Given the description of an element on the screen output the (x, y) to click on. 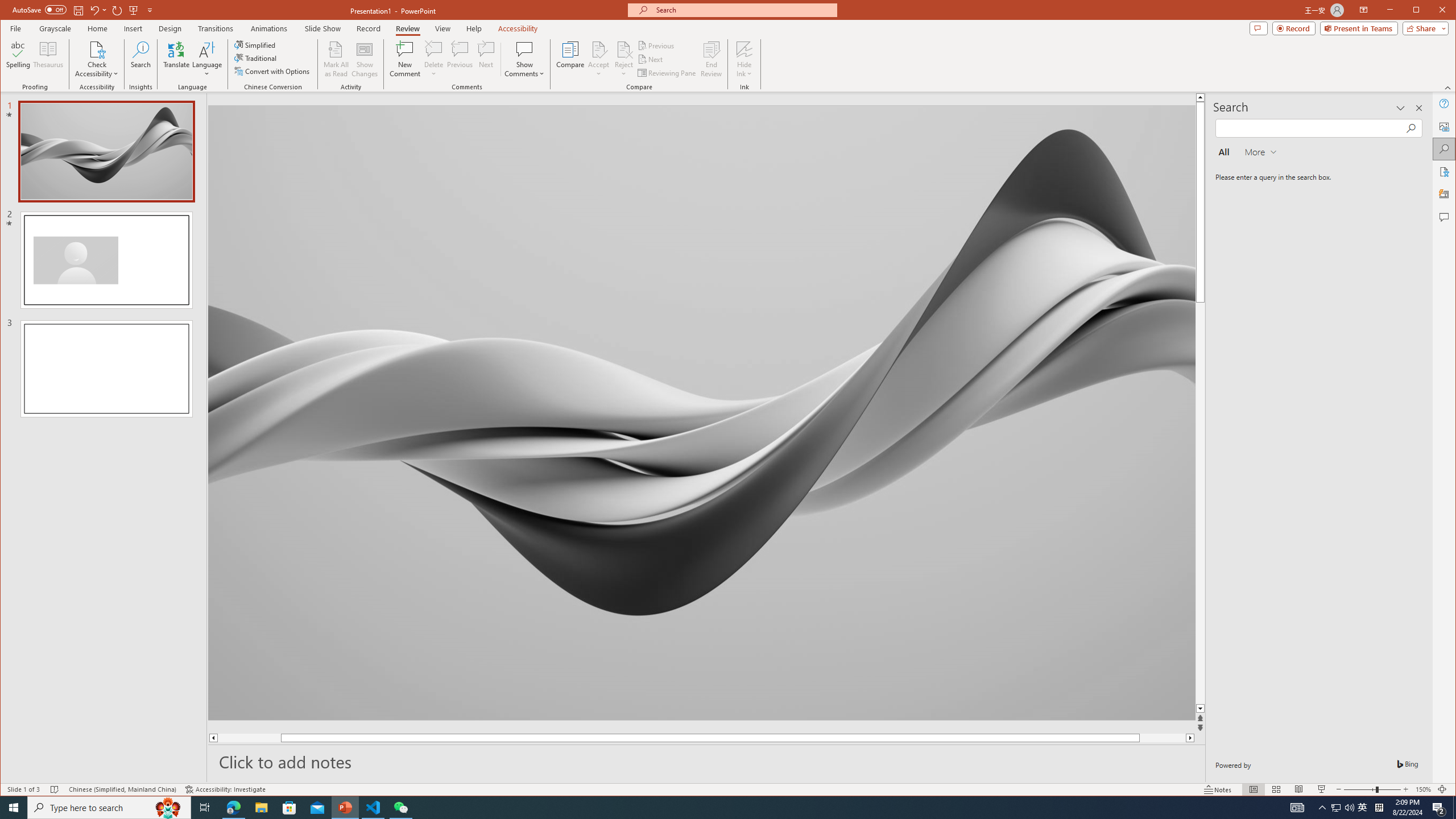
Mark All as Read (335, 59)
Spelling... (18, 59)
